Given the description of an element on the screen output the (x, y) to click on. 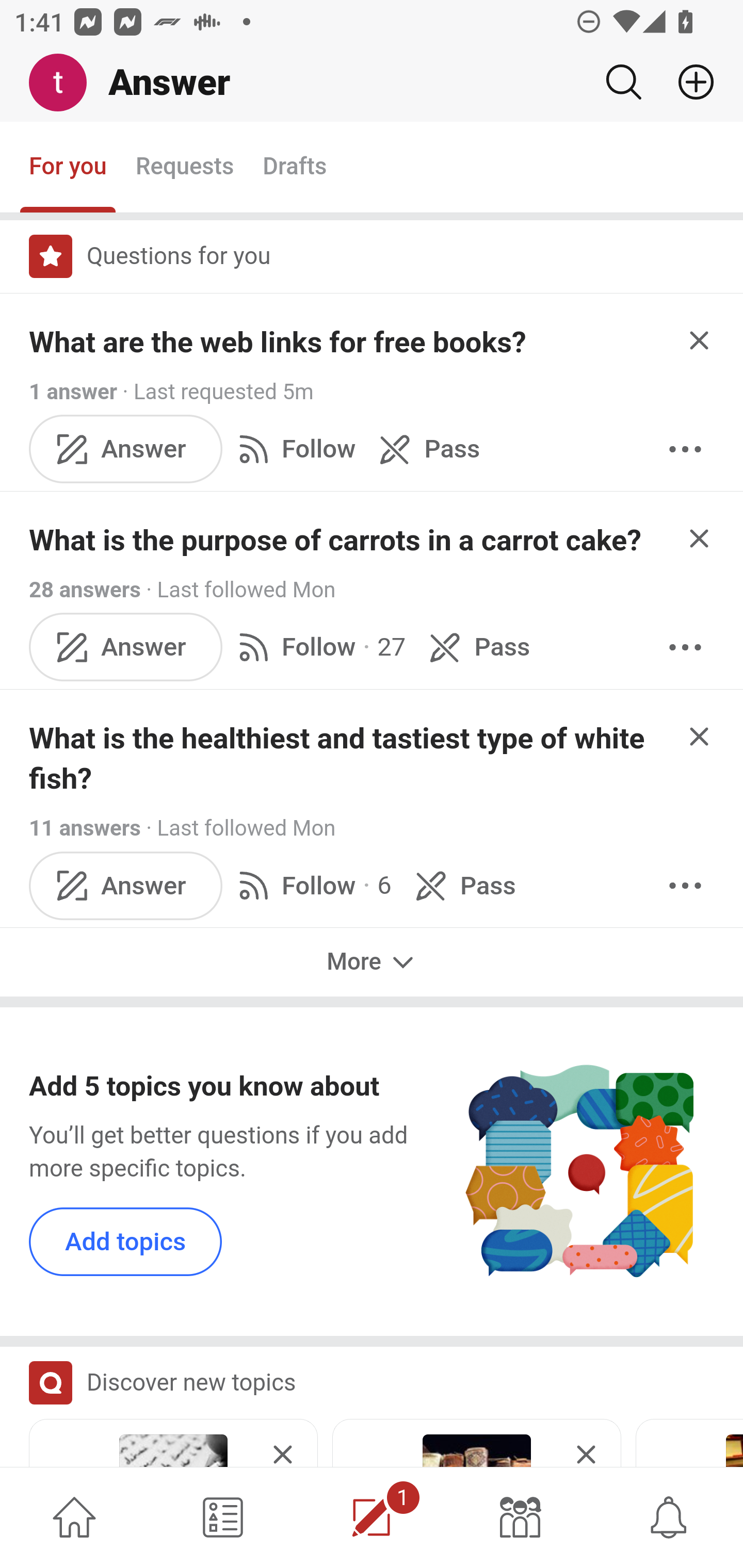
Me (64, 83)
Search (623, 82)
Add (688, 82)
For you (68, 167)
Requests (183, 167)
Drafts (295, 167)
Hide (699, 340)
What are the web links for free books? (277, 342)
1 answer 1  answer (73, 390)
Answer (125, 448)
Follow (293, 448)
Pass (425, 448)
More (684, 448)
Hide (699, 537)
What is the purpose of carrots in a carrot cake? (335, 540)
28 answers 28  answers (84, 590)
Answer (125, 648)
Follow · 27 (317, 648)
Pass (476, 648)
More (684, 648)
Hide (699, 735)
11 answers 11  answers (84, 828)
Answer (125, 886)
Follow · 6 (311, 886)
Pass (461, 886)
More (684, 886)
More (371, 961)
Add topics (125, 1240)
